Given the description of an element on the screen output the (x, y) to click on. 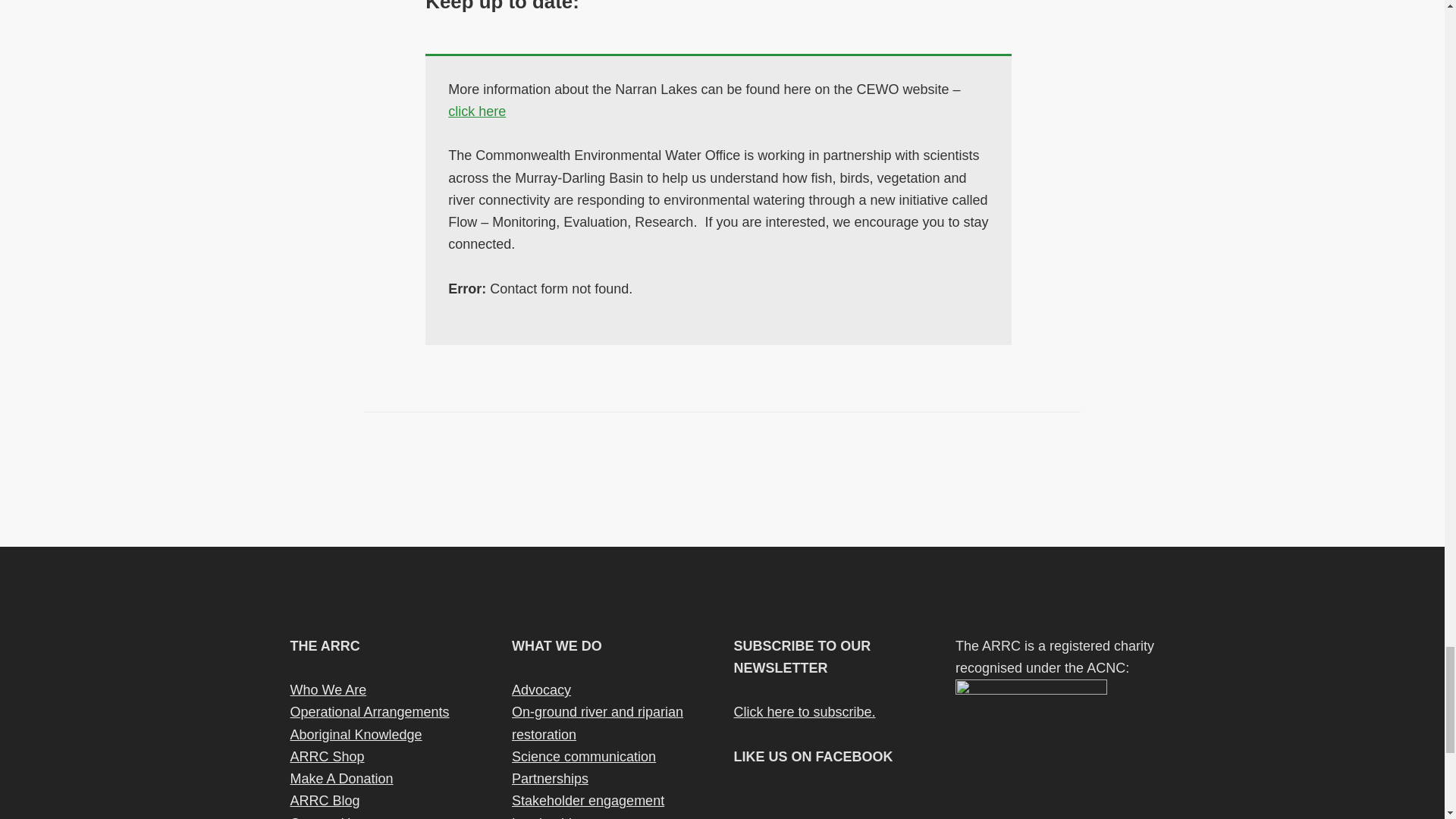
Click here to subscribe. (804, 711)
ARRC Blog (324, 800)
On-ground river and riparian restoration (597, 723)
Who We Are (327, 689)
Contact Us (322, 817)
Advocacy (541, 689)
Partnerships (550, 778)
ARRC Shop (326, 756)
Make A Donation (341, 778)
Aboriginal Knowledge (355, 734)
Stakeholder engagement (587, 800)
Operational Arrangements (368, 711)
Leadership (545, 817)
Science communication (584, 756)
click here (476, 111)
